Given the description of an element on the screen output the (x, y) to click on. 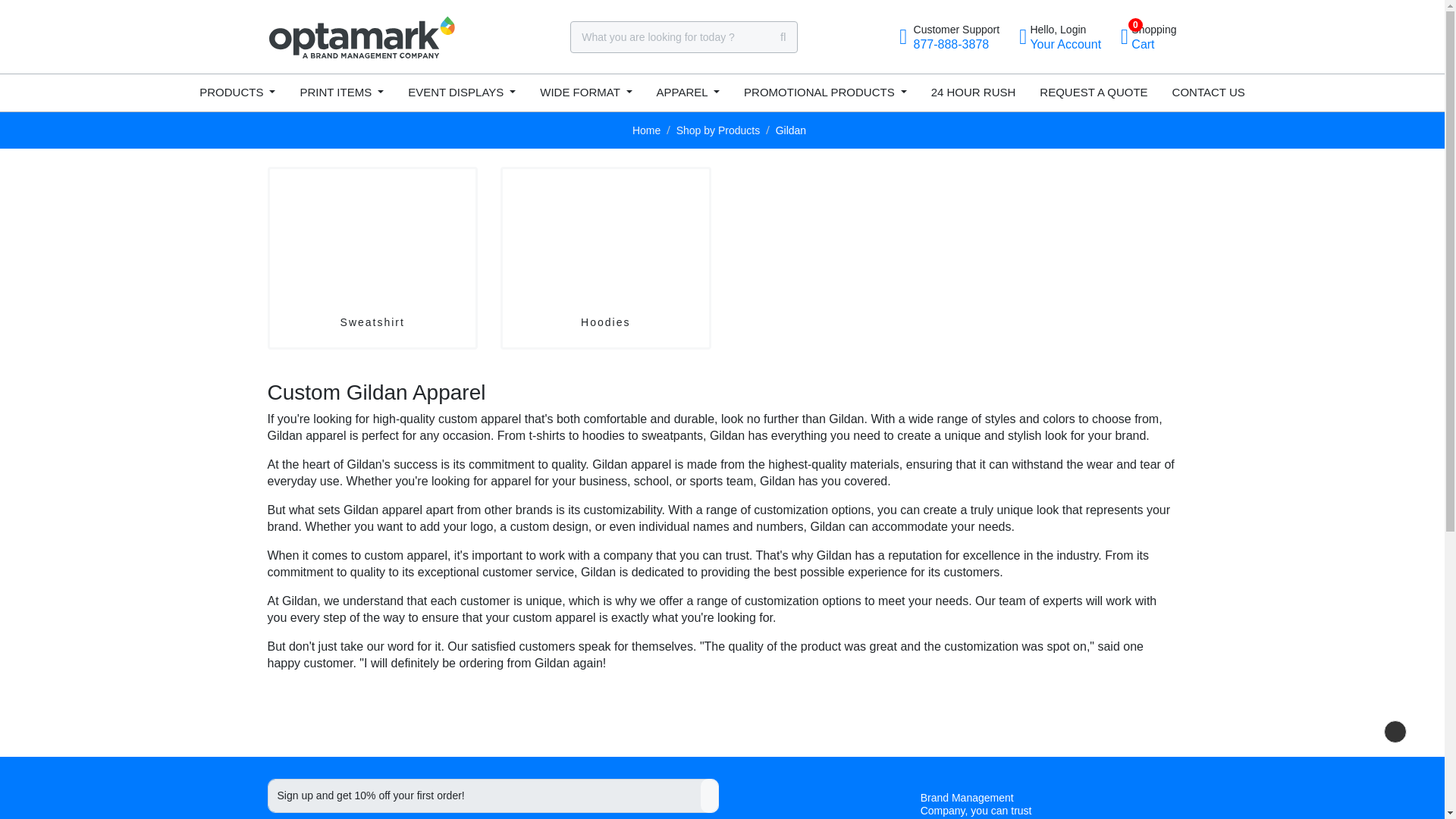
cart (949, 36)
PRODUCTS (1147, 36)
8778883878 (1147, 36)
Login (236, 92)
